Given the description of an element on the screen output the (x, y) to click on. 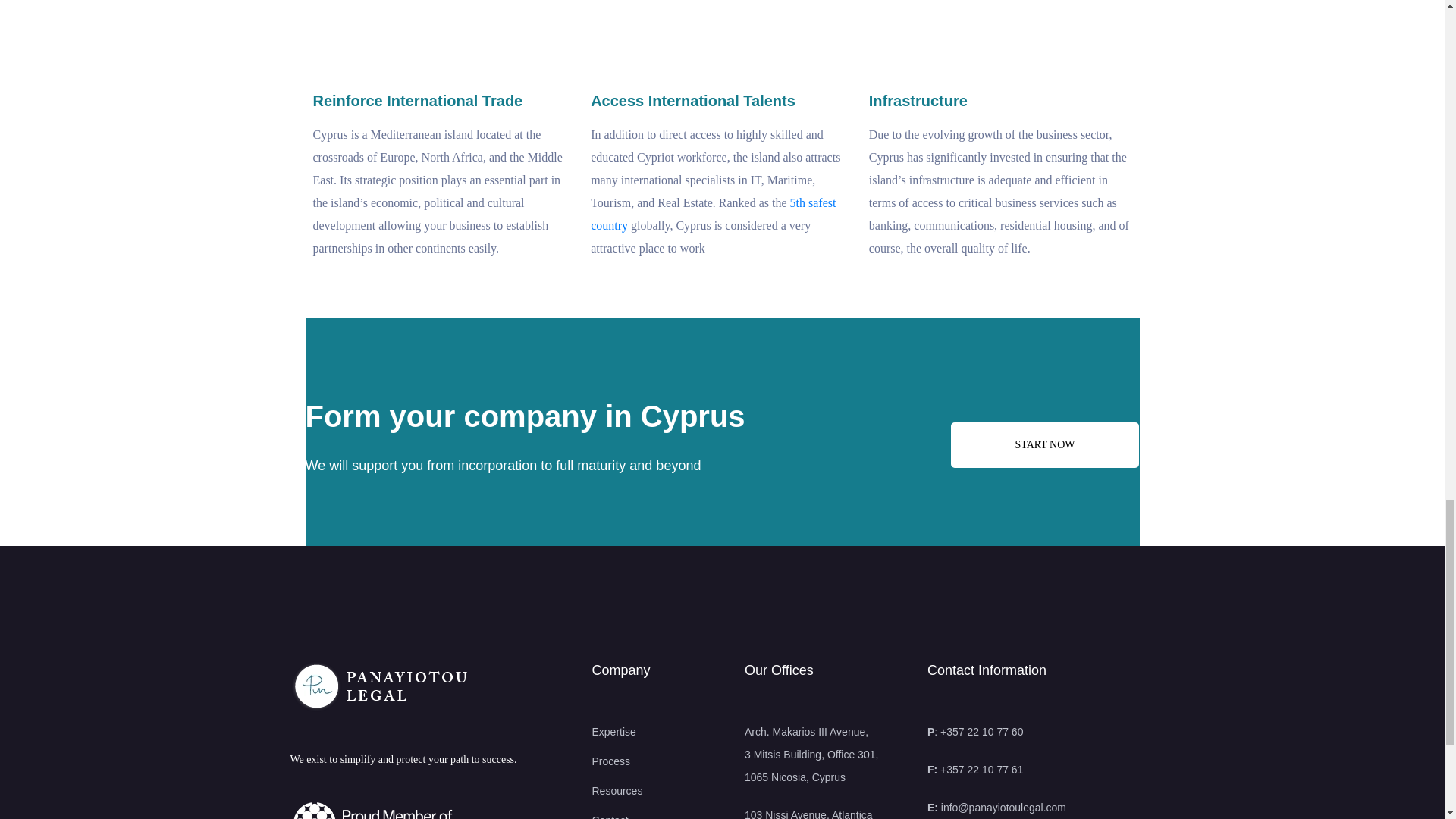
START NOW (1044, 444)
Process (656, 761)
Expertise (656, 731)
5th safest country (713, 213)
Contact (656, 814)
Resources (656, 790)
